Given the description of an element on the screen output the (x, y) to click on. 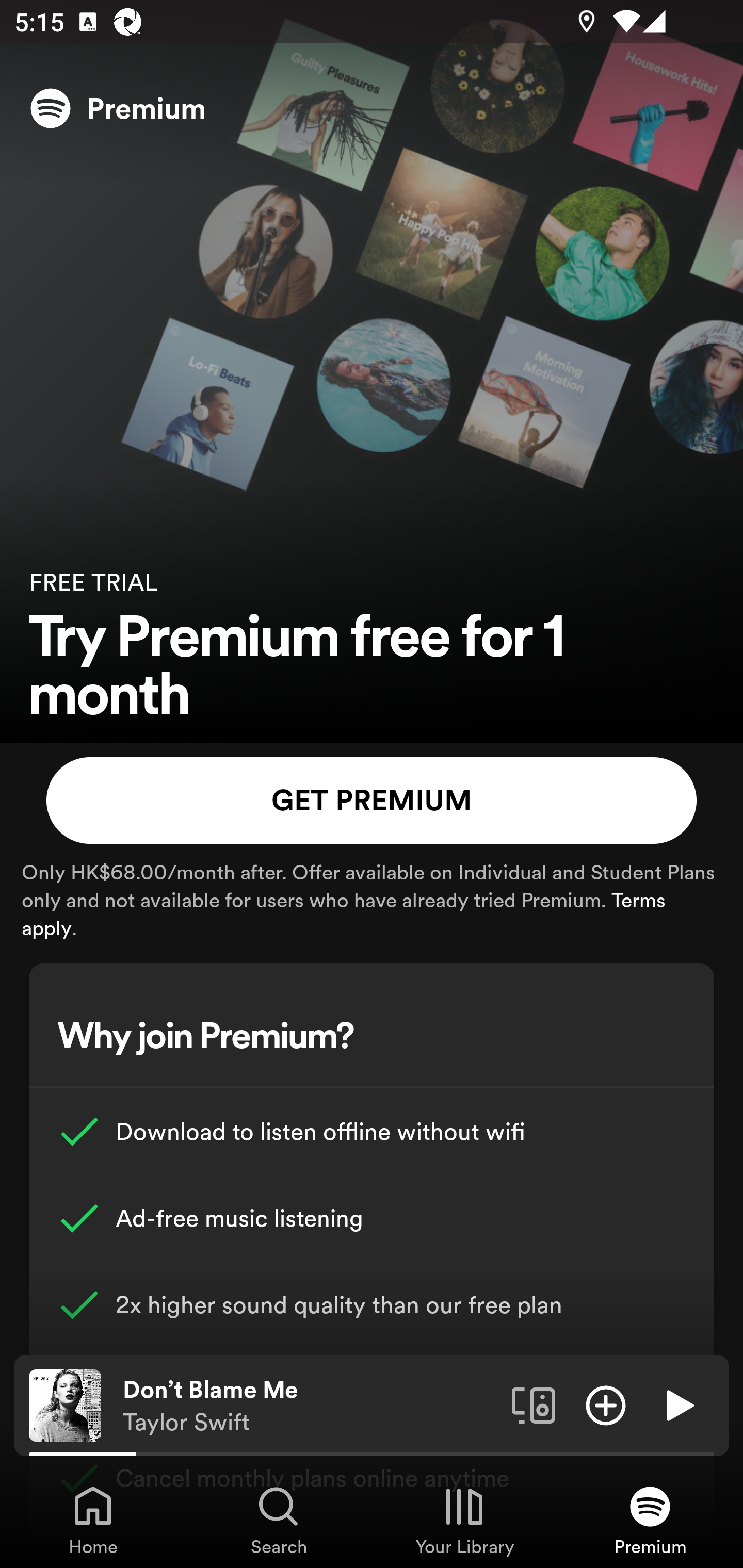
GET PREMIUM (371, 800)
Don’t Blame Me Taylor Swift (309, 1405)
The cover art of the currently playing track (64, 1404)
Connect to a device. Opens the devices menu (533, 1404)
Add item (605, 1404)
Play (677, 1404)
Home, Tab 1 of 4 Home Home (92, 1519)
Search, Tab 2 of 4 Search Search (278, 1519)
Your Library, Tab 3 of 4 Your Library Your Library (464, 1519)
Premium, Tab 4 of 4 Premium Premium (650, 1519)
